Given the description of an element on the screen output the (x, y) to click on. 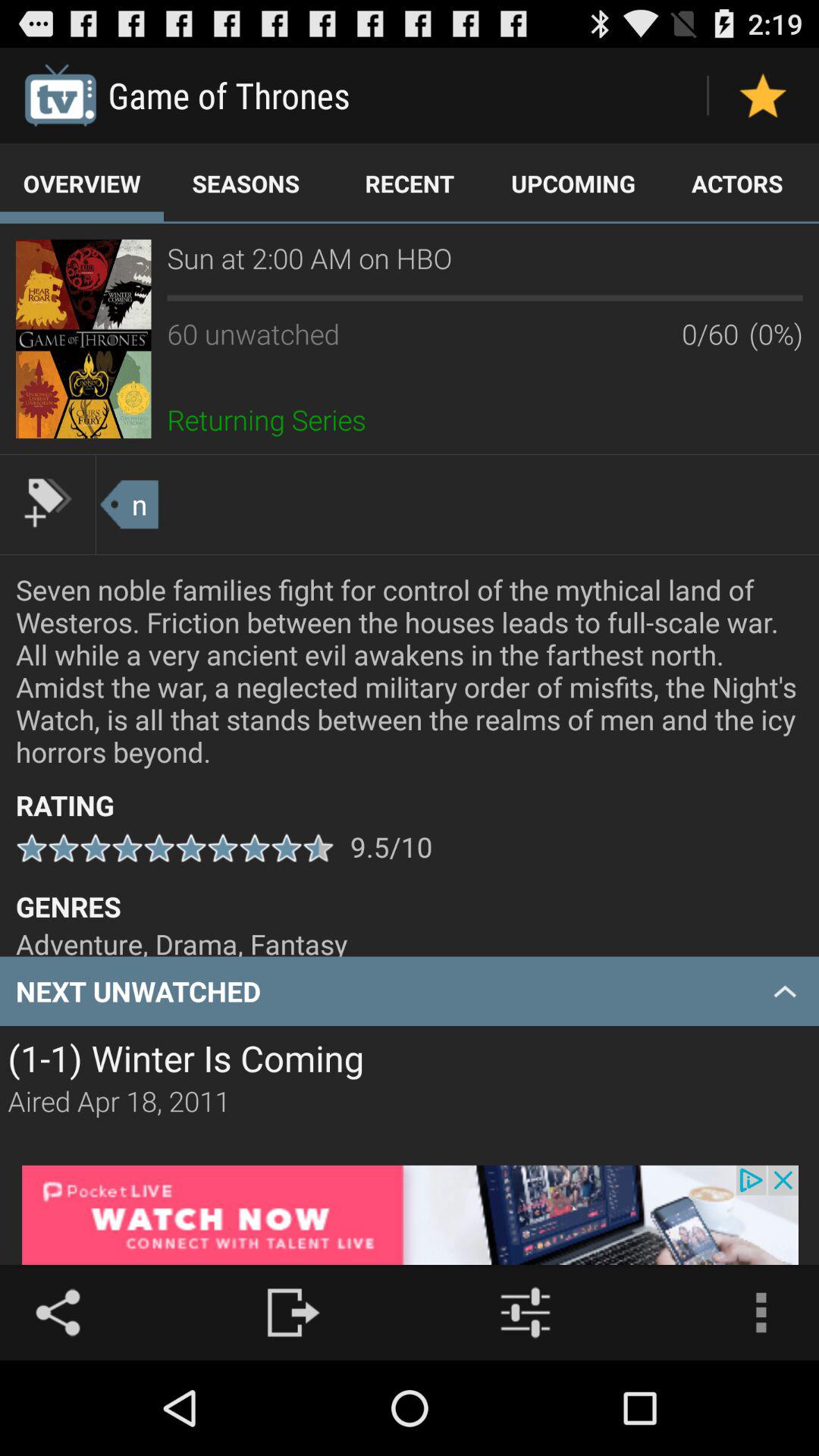
remove tag (47, 502)
